Given the description of an element on the screen output the (x, y) to click on. 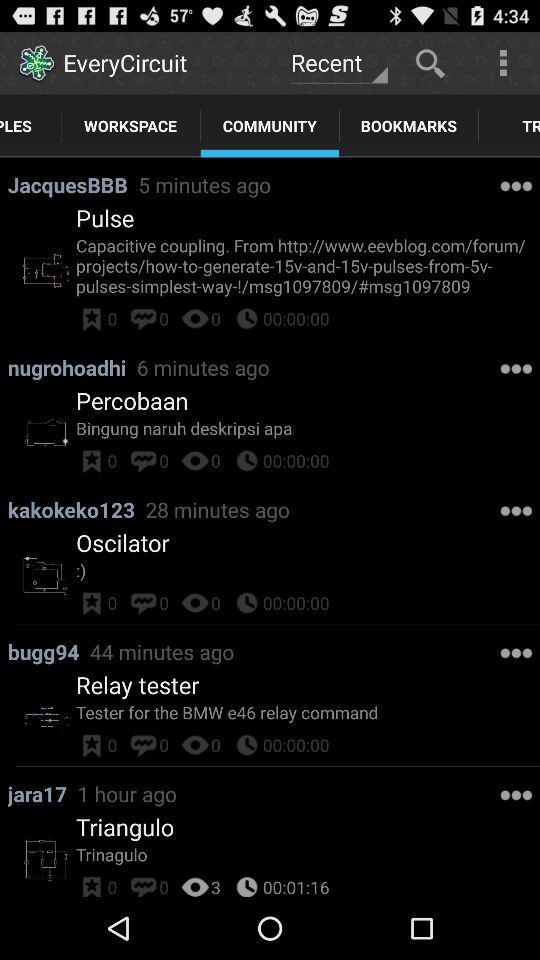
launch the capacitive coupling from item (308, 265)
